Given the description of an element on the screen output the (x, y) to click on. 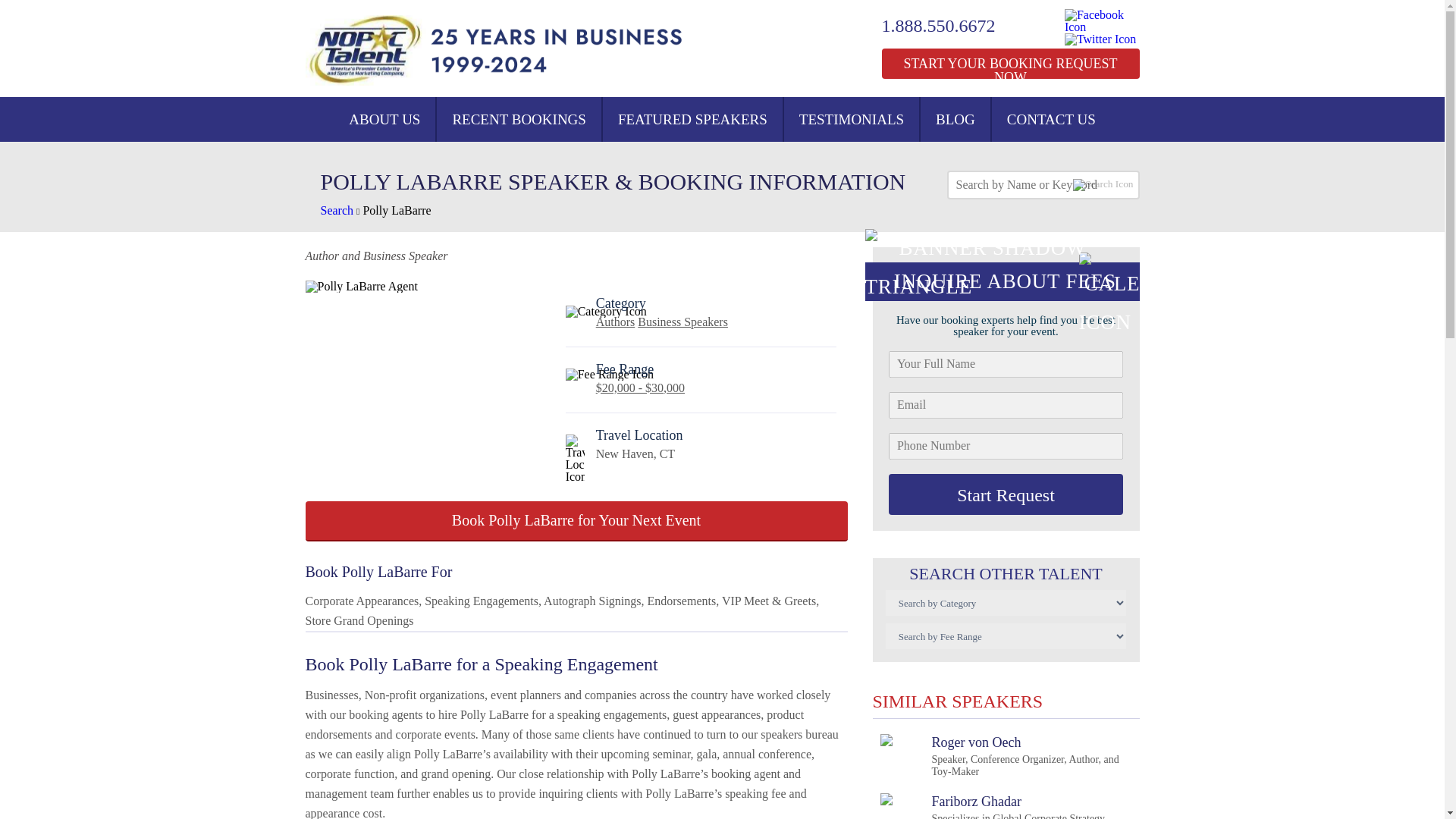
Search (336, 210)
CONTACT US (1050, 119)
BLOG (992, 806)
Business Speakers (955, 119)
ABOUT US (682, 321)
Authors (384, 119)
Polly LaBarre (614, 321)
Start Request (396, 210)
Book Polly LaBarre for Your Next Event (1006, 494)
